Given the description of an element on the screen output the (x, y) to click on. 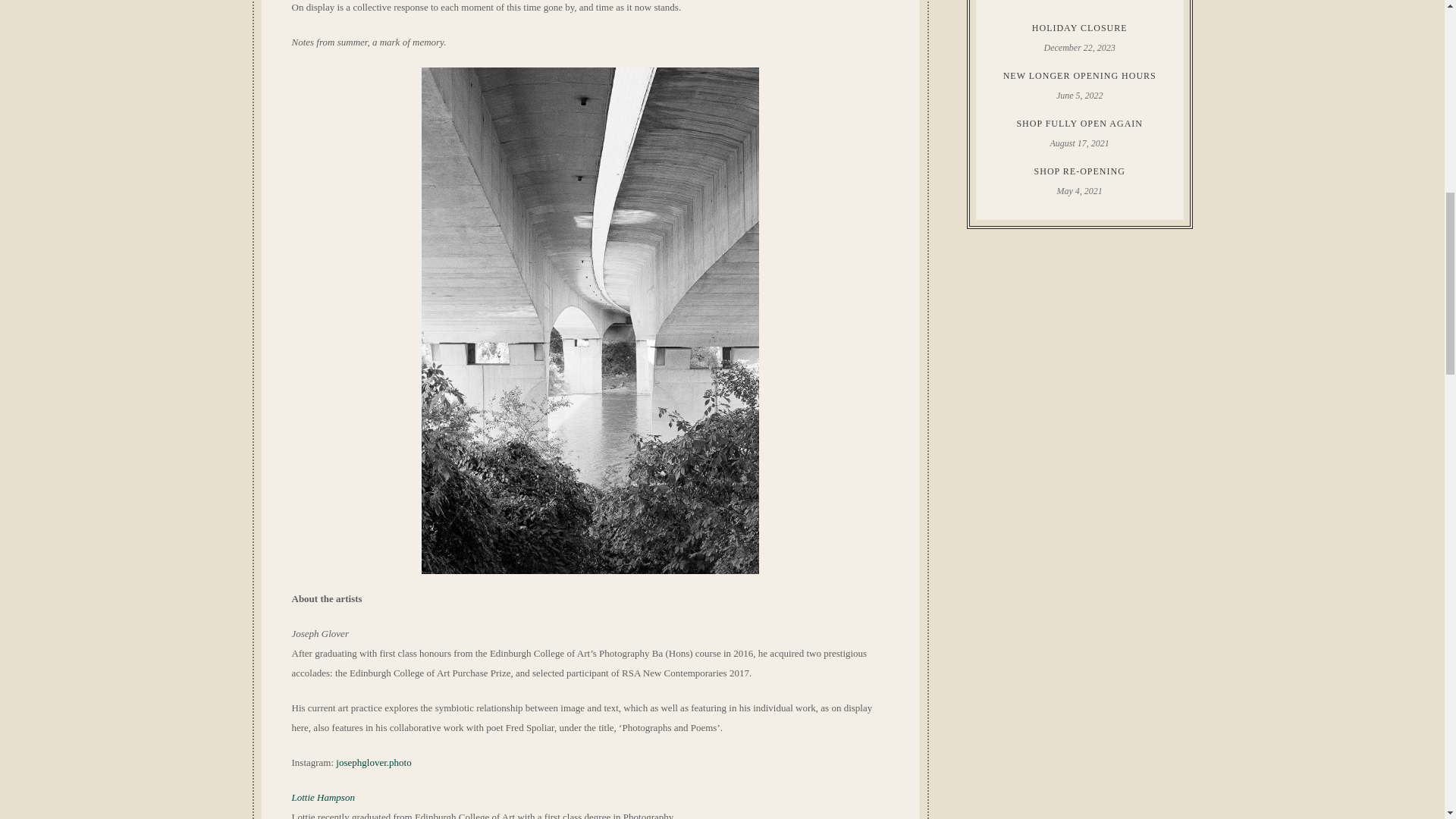
Shop Fully Open Again (1079, 123)
New Longer Opening Hours (1079, 75)
Shop Re-Opening (1079, 171)
josephglover.photo (373, 762)
Lottie Hampson (322, 797)
Holiday closure (1079, 28)
